Given the description of an element on the screen output the (x, y) to click on. 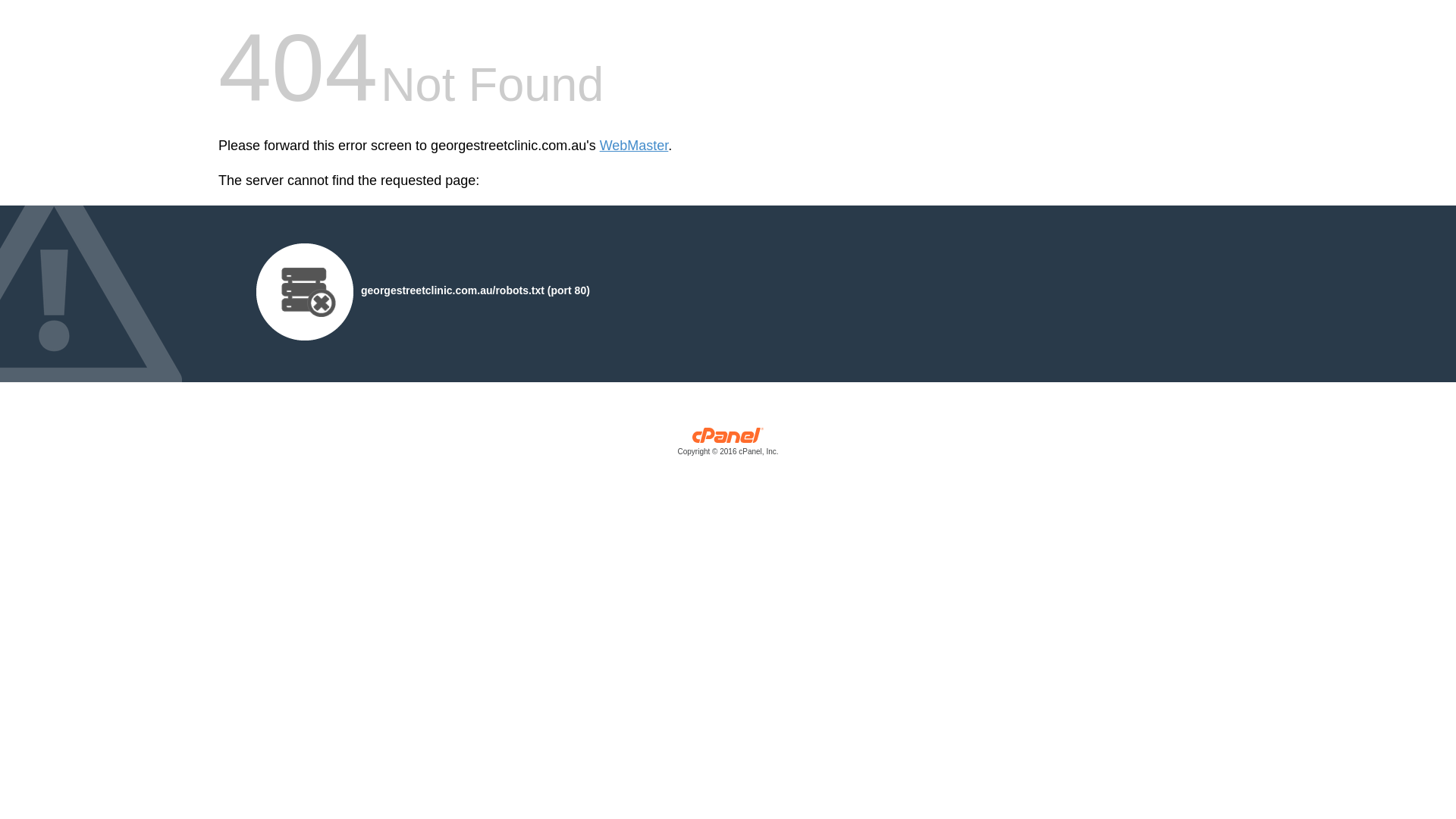
WebMaster Element type: text (633, 145)
